Given the description of an element on the screen output the (x, y) to click on. 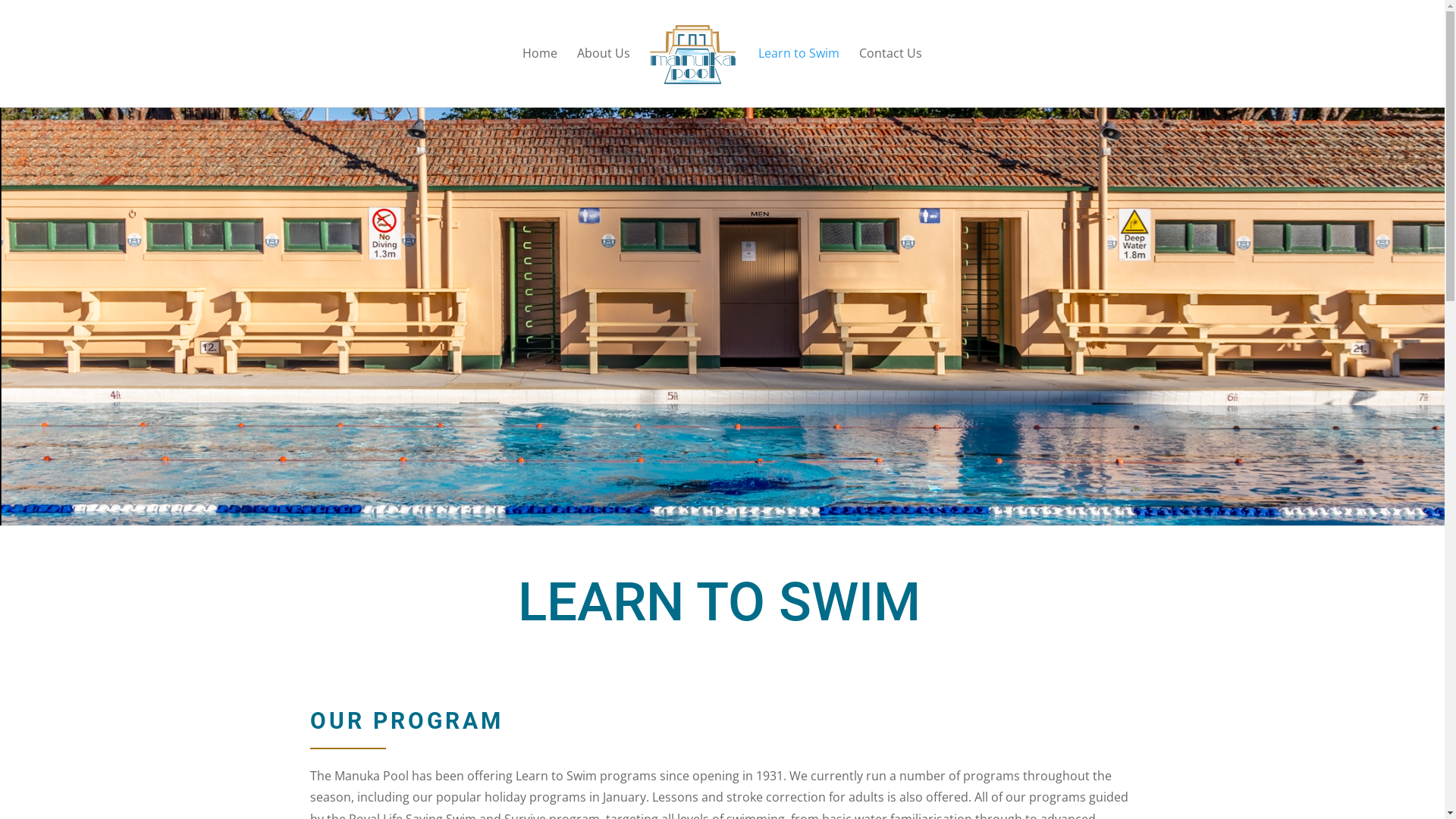
About Us Element type: text (603, 76)
Learn to Swim Element type: text (798, 76)
Contact Us Element type: text (890, 76)
Home Element type: text (539, 76)
